Given the description of an element on the screen output the (x, y) to click on. 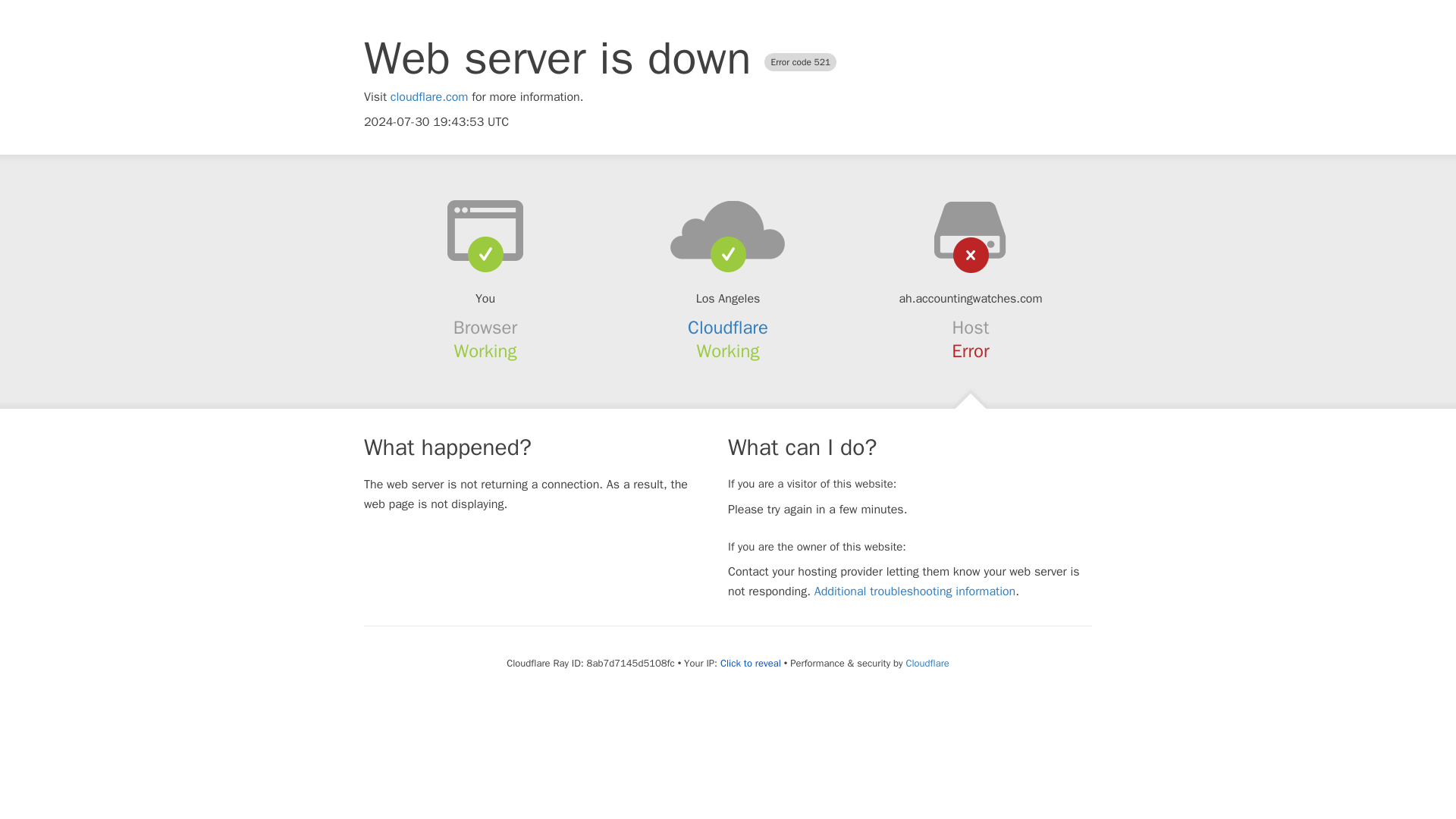
Cloudflare (727, 327)
Click to reveal (750, 663)
Additional troubleshooting information (913, 590)
Cloudflare (927, 662)
cloudflare.com (429, 96)
